Given the description of an element on the screen output the (x, y) to click on. 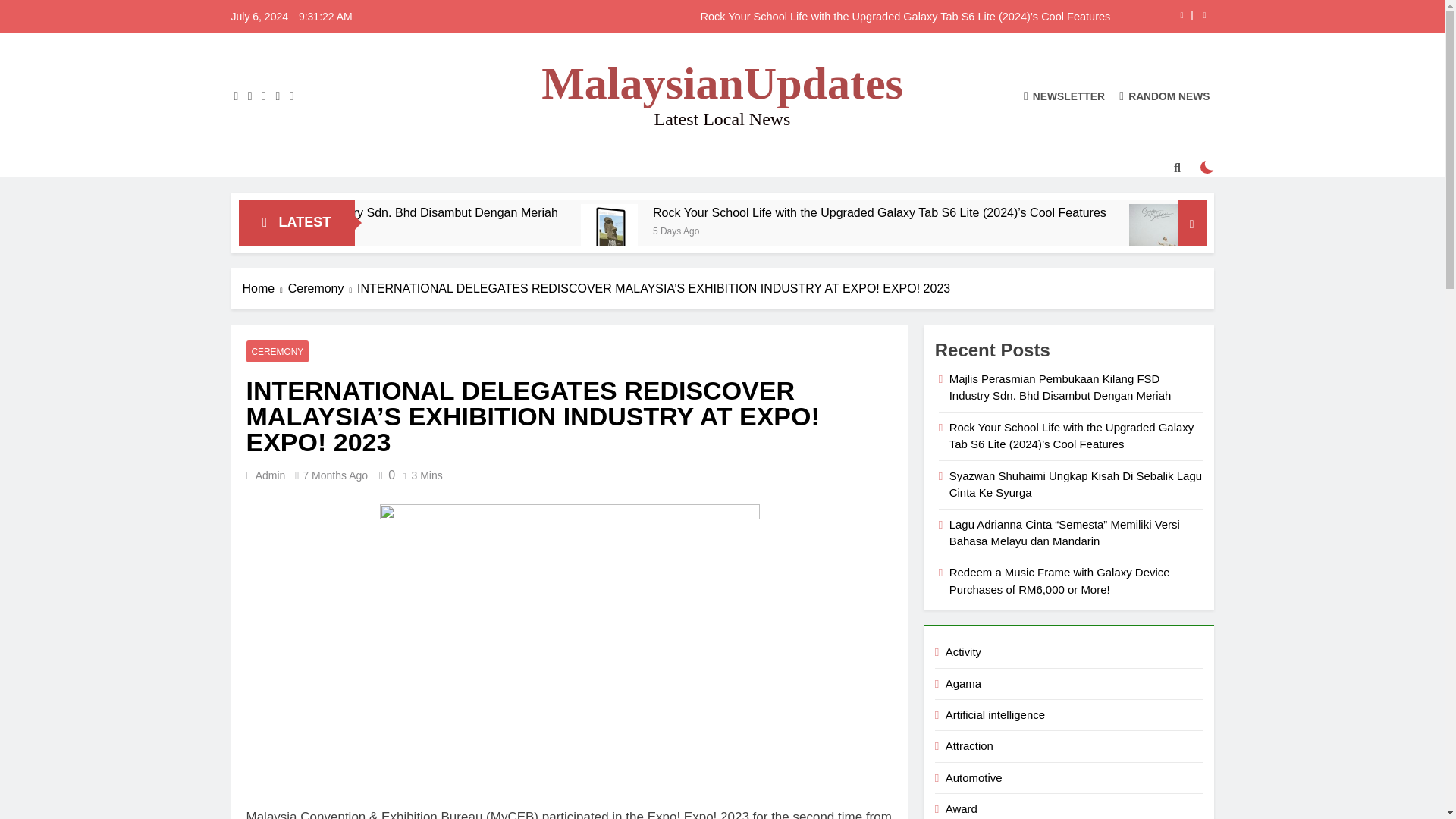
RANDOM NEWS (1164, 95)
MalaysianUpdates (721, 83)
on (1206, 167)
NEWSLETTER (1064, 95)
4 Days Ago (369, 229)
5 Days Ago (921, 229)
